Given the description of an element on the screen output the (x, y) to click on. 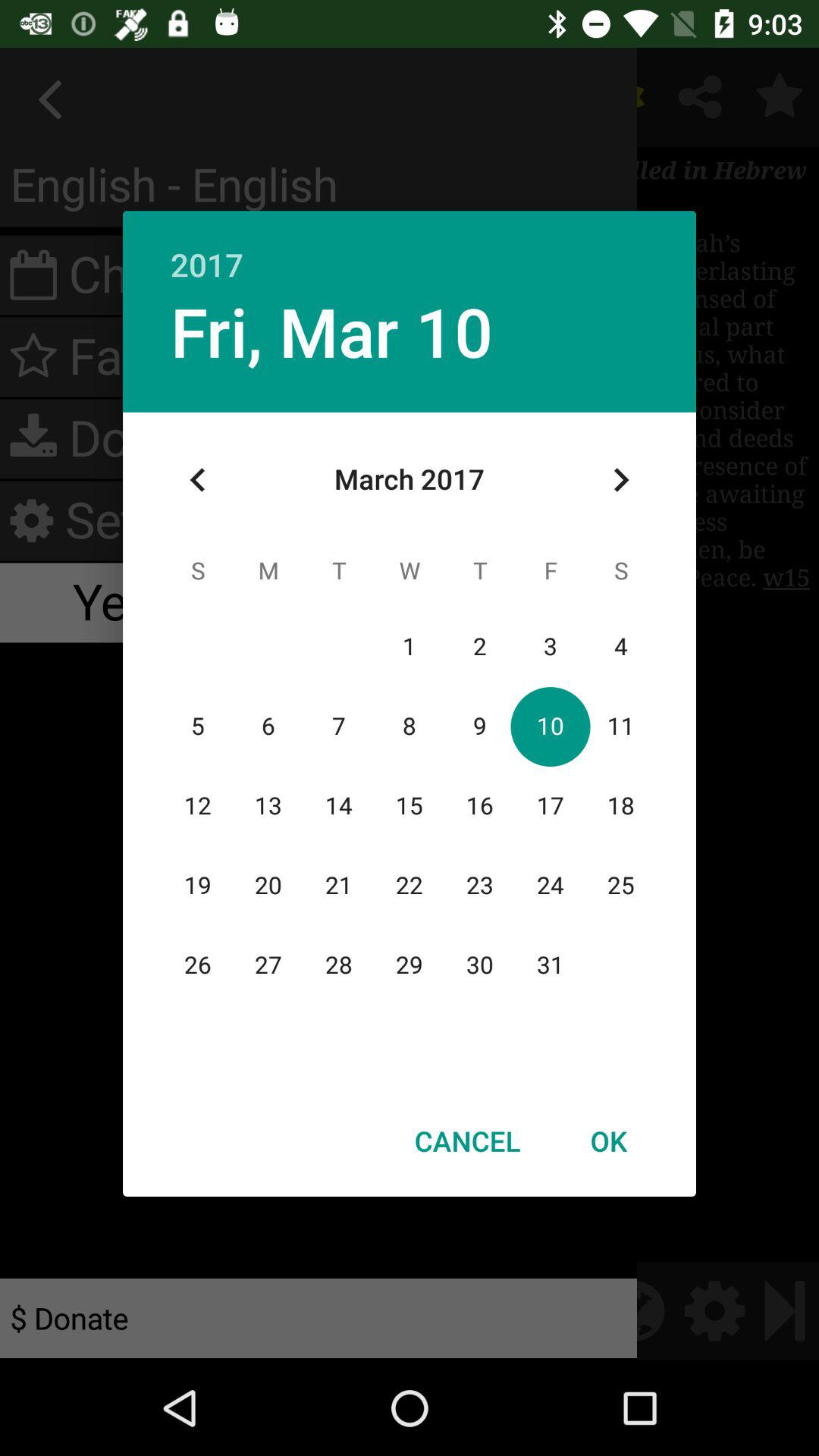
press the app below 2017 (620, 479)
